Given the description of an element on the screen output the (x, y) to click on. 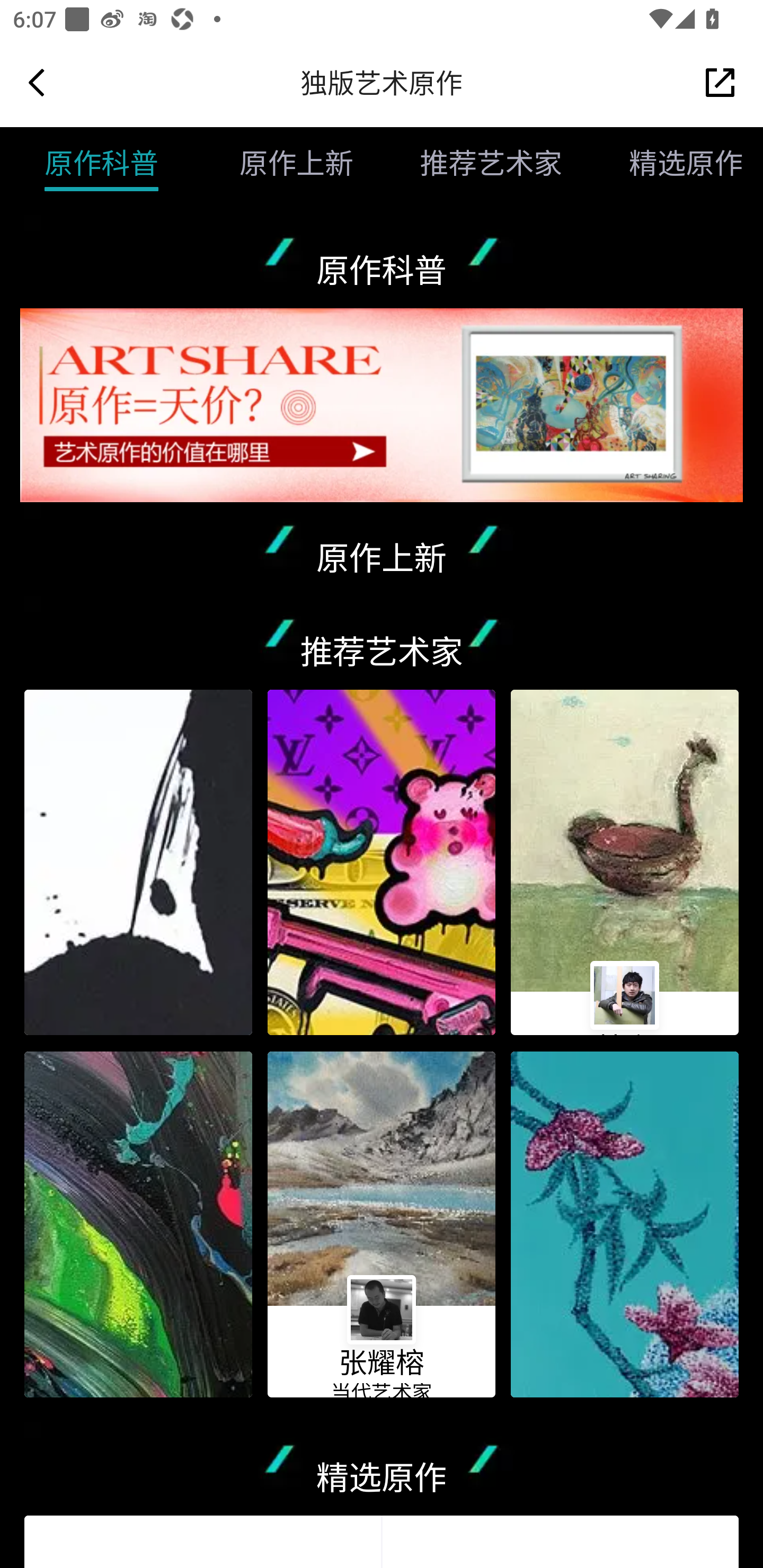
Navigate up (36, 82)
原作科普 (101, 163)
原作上新 (279, 163)
推荐艺术家 (475, 163)
精选原作 (669, 163)
resize,w_750 (137, 862)
resize,w_750 resize,w_136,h_136 韩方 当代艺术家 (624, 862)
resize,w_750 resize,w_136,h_136 王增春 当代艺术家 (137, 1224)
resize,w_750 resize,w_136,h_136 张耀榕 当代艺术家 (381, 1224)
resize,w_750 resize,w_136,h_136 (624, 1224)
